Given the description of an element on the screen output the (x, y) to click on. 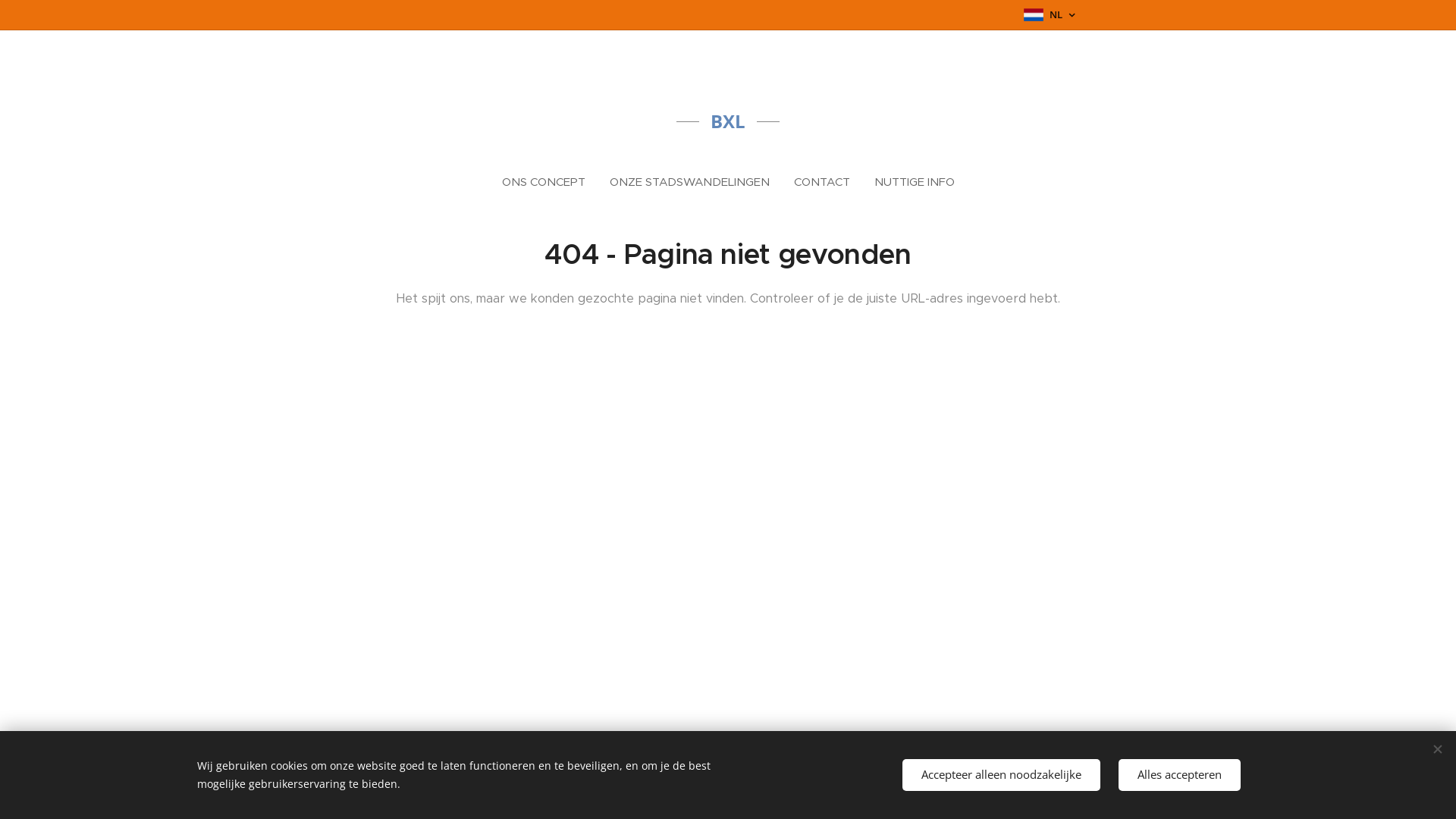
ONZE STADSWANDELINGEN Element type: text (689, 181)
CONTACT Element type: text (821, 181)
Alles accepteren Element type: text (1179, 774)
NUTTIGE INFO Element type: text (907, 181)
Cookies Element type: text (1056, 771)
Accepteer alleen noodzakelijke Element type: text (1001, 774)
ONS CONCEPT Element type: text (549, 181)
